Given the description of an element on the screen output the (x, y) to click on. 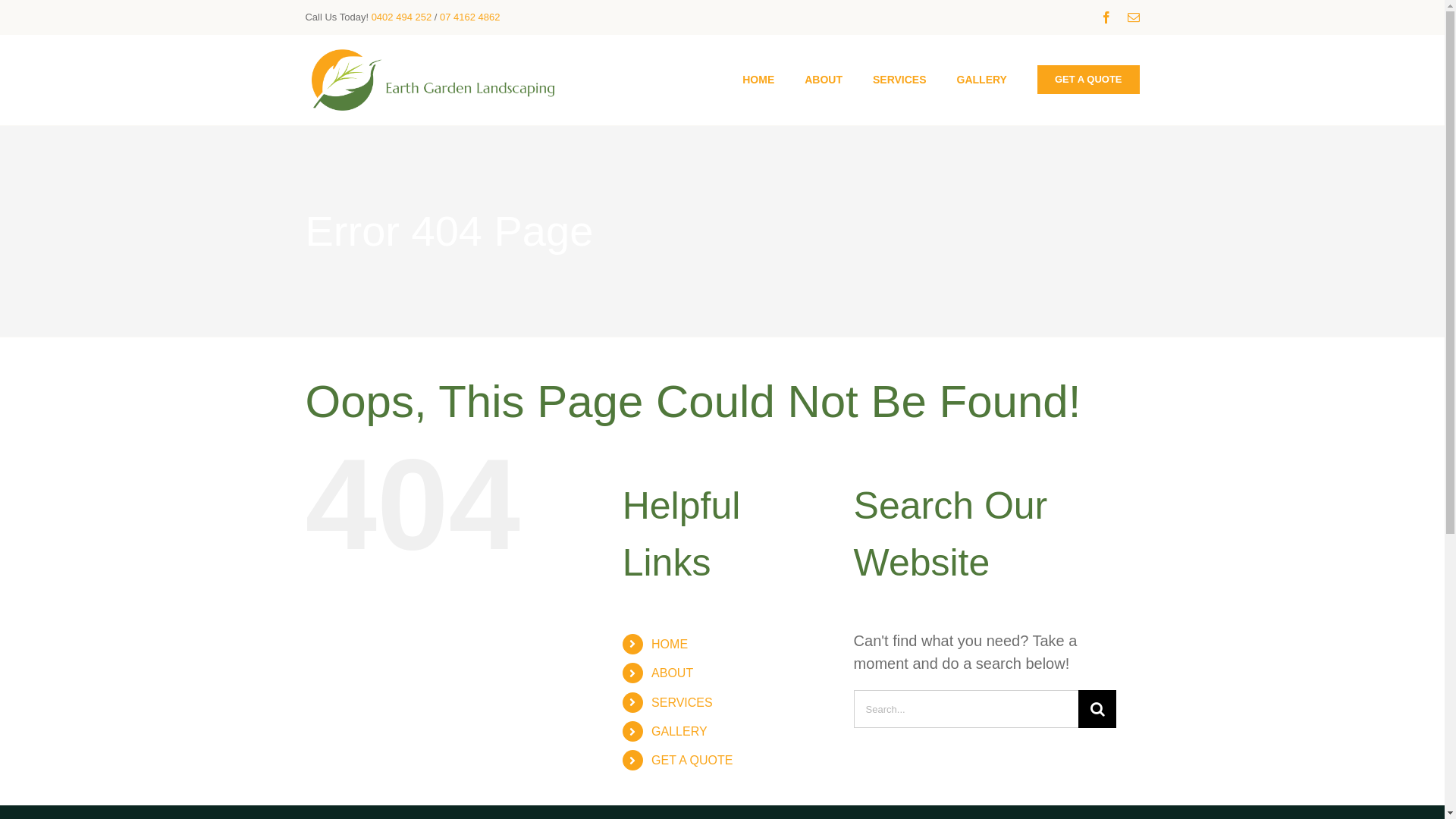
HOME Element type: text (758, 79)
GALLERY Element type: text (982, 79)
ABOUT Element type: text (672, 672)
0402 494 252 Element type: text (401, 16)
Email Element type: hover (1133, 17)
GET A QUOTE Element type: text (691, 759)
HOME Element type: text (669, 643)
07 4162 4862 Element type: text (469, 16)
GET A QUOTE Element type: text (1088, 79)
Facebook Element type: hover (1106, 17)
SERVICES Element type: text (899, 79)
SERVICES Element type: text (681, 702)
GALLERY Element type: text (679, 730)
ABOUT Element type: text (823, 79)
